Given the description of an element on the screen output the (x, y) to click on. 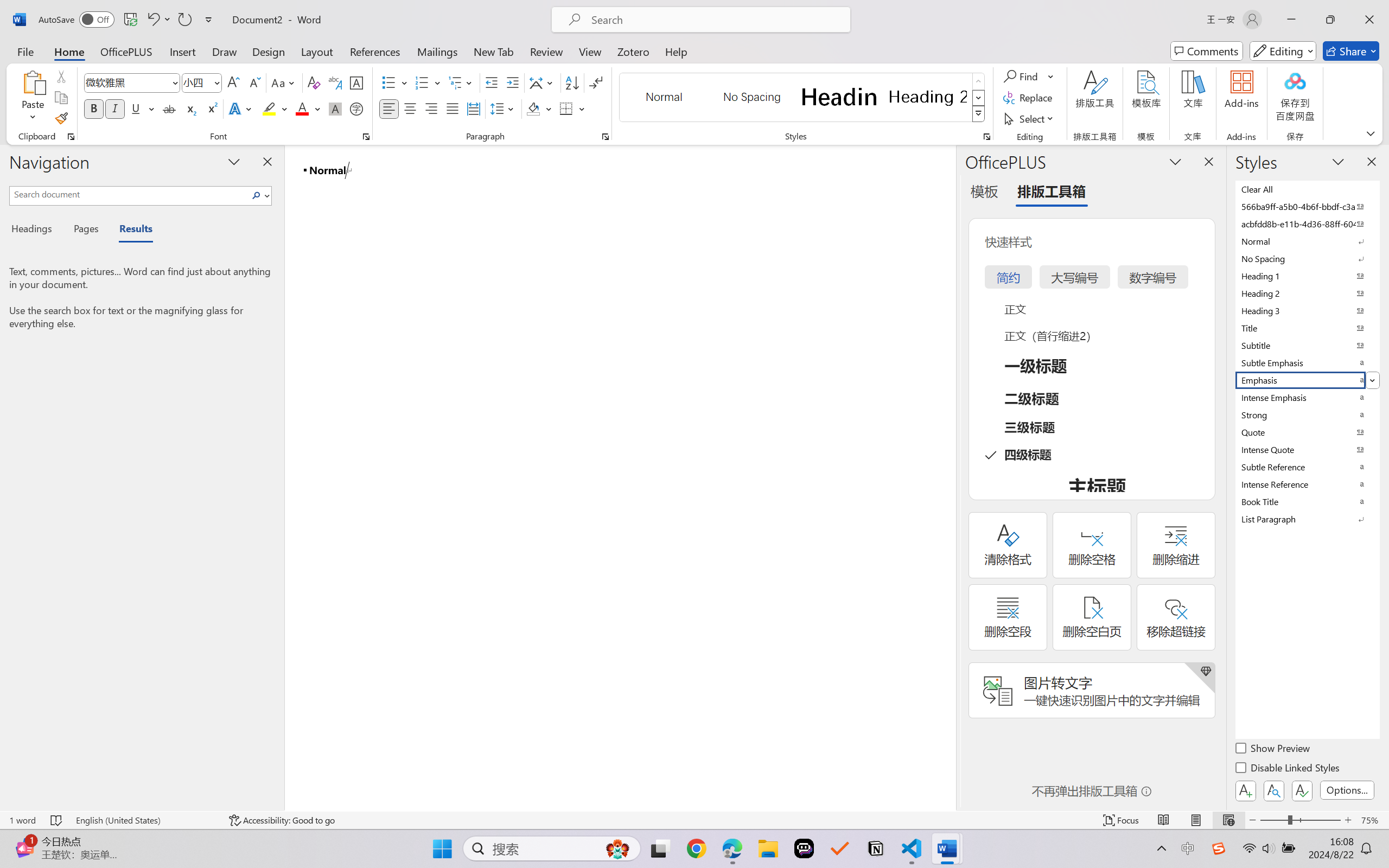
Spelling and Grammar Check No Errors (56, 819)
Text Highlight Color Yellow (269, 108)
Borders (571, 108)
Layout (316, 51)
Ribbon Display Options (1370, 132)
Align Left (388, 108)
Borders (566, 108)
Disable Linked Styles (1287, 769)
Find (1029, 75)
Shrink Font (253, 82)
Read Mode (1163, 819)
Search (259, 195)
